Given the description of an element on the screen output the (x, y) to click on. 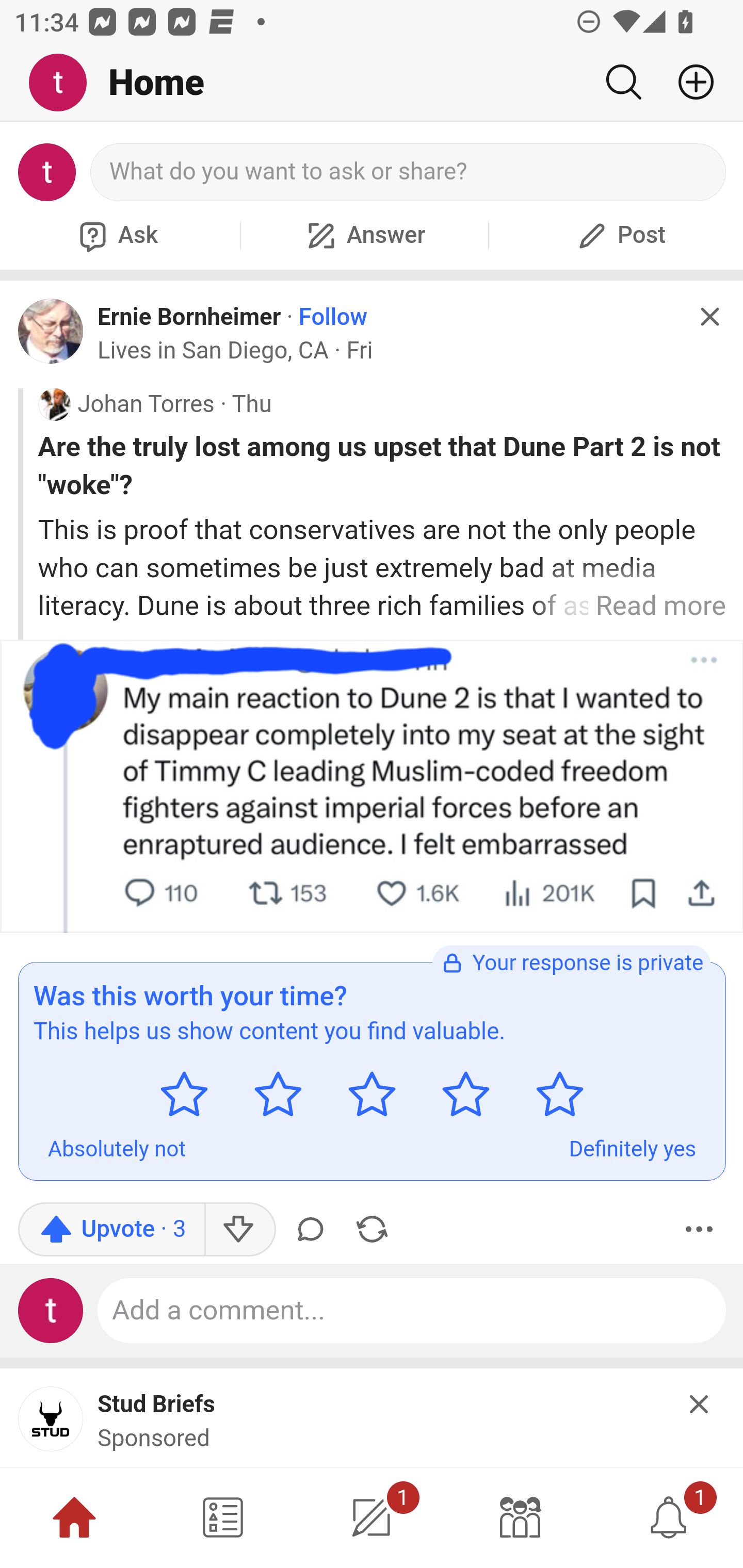
Me (64, 83)
Search (623, 82)
Add (688, 82)
What do you want to ask or share? (408, 172)
Ask (116, 234)
Answer (364, 234)
Post (618, 234)
Hide (709, 316)
Profile photo for Ernie Bornheimer (50, 330)
Ernie Bornheimer (189, 315)
Follow (332, 316)
Profile photo for Johan Torres (54, 404)
Upvote (111, 1229)
Downvote (238, 1229)
Comment (313, 1229)
Share (372, 1229)
More (699, 1229)
Profile photo for Test Appium (50, 1309)
Add a comment... (412, 1309)
Hide (699, 1403)
main-qimg-f203deb7121183c78e5088192cee230f (50, 1424)
Stud Briefs (156, 1405)
Sponsored (154, 1438)
1 (371, 1517)
1 (668, 1517)
